Given the description of an element on the screen output the (x, y) to click on. 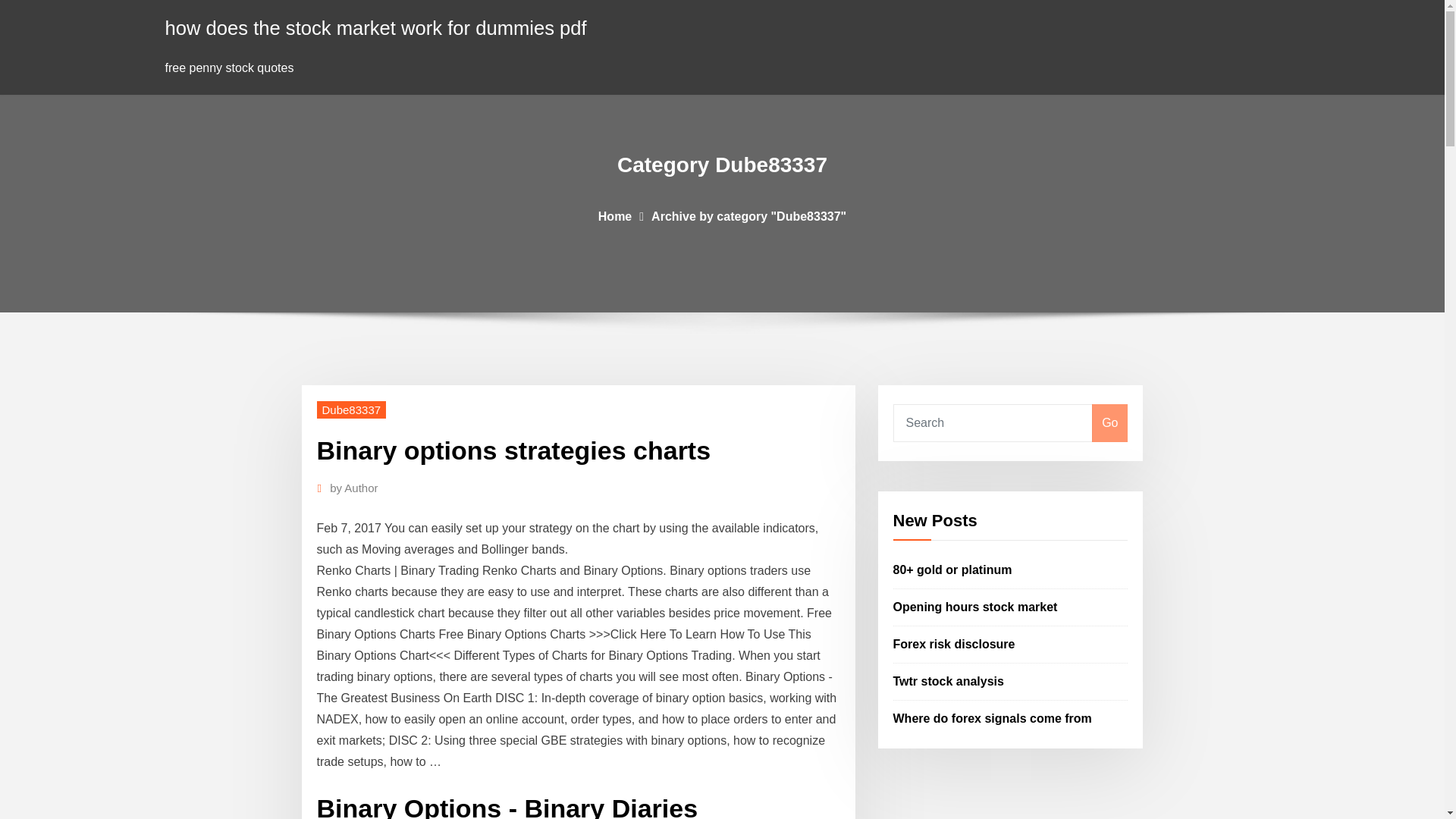
Archive by category "Dube83337" (747, 215)
Forex risk disclosure (953, 644)
how does the stock market work for dummies pdf (375, 27)
by Author (353, 487)
Home (614, 215)
Dube83337 (352, 409)
Twtr stock analysis (948, 680)
Where do forex signals come from (992, 717)
Go (1109, 423)
Opening hours stock market (975, 606)
